Given the description of an element on the screen output the (x, y) to click on. 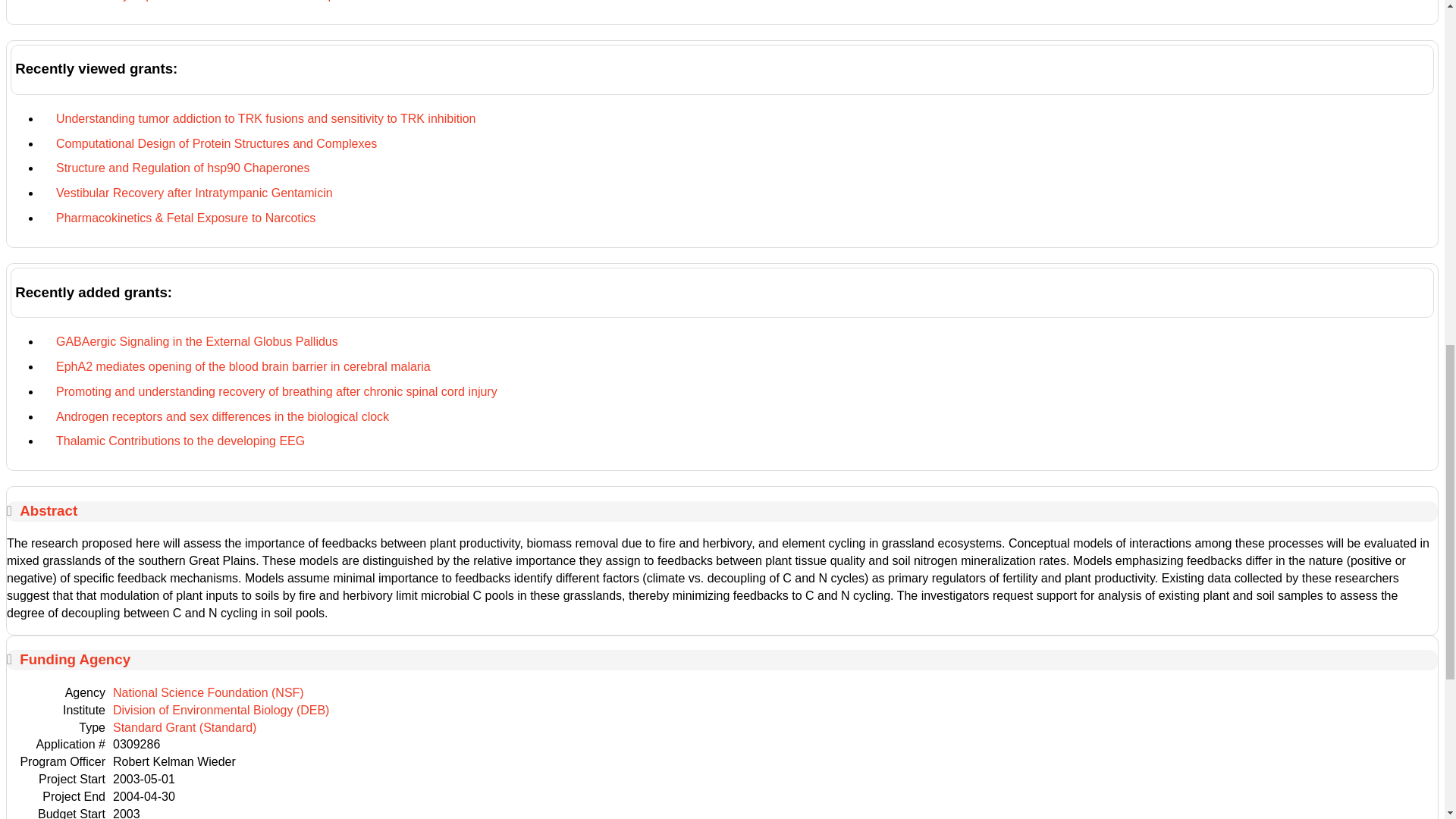
Funding Agency (75, 659)
Abstract (48, 510)
